Given the description of an element on the screen output the (x, y) to click on. 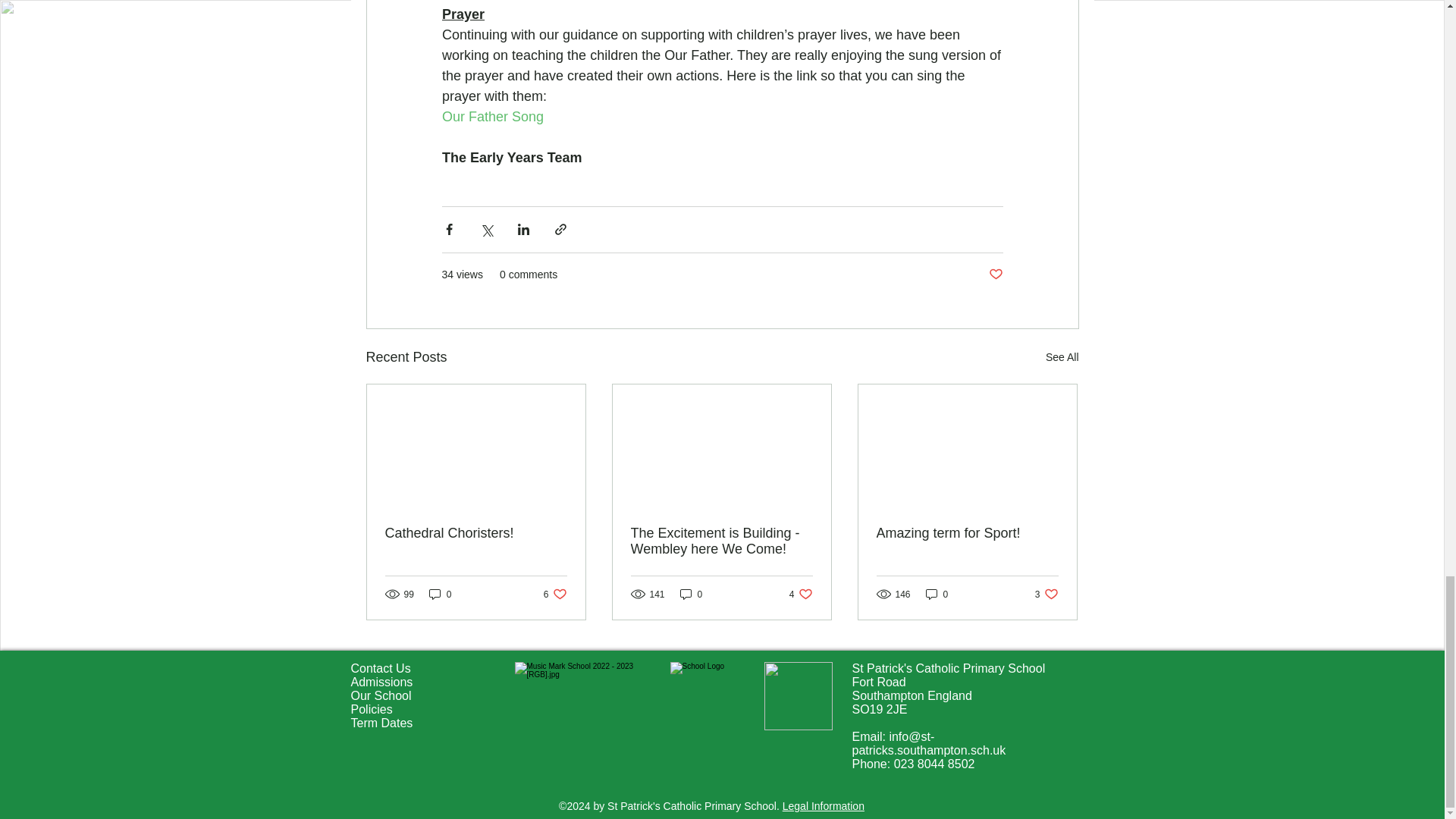
School Logo (579, 695)
SG-L1-3-gold-2021-22.jpg (798, 695)
School Logo (706, 695)
